Given the description of an element on the screen output the (x, y) to click on. 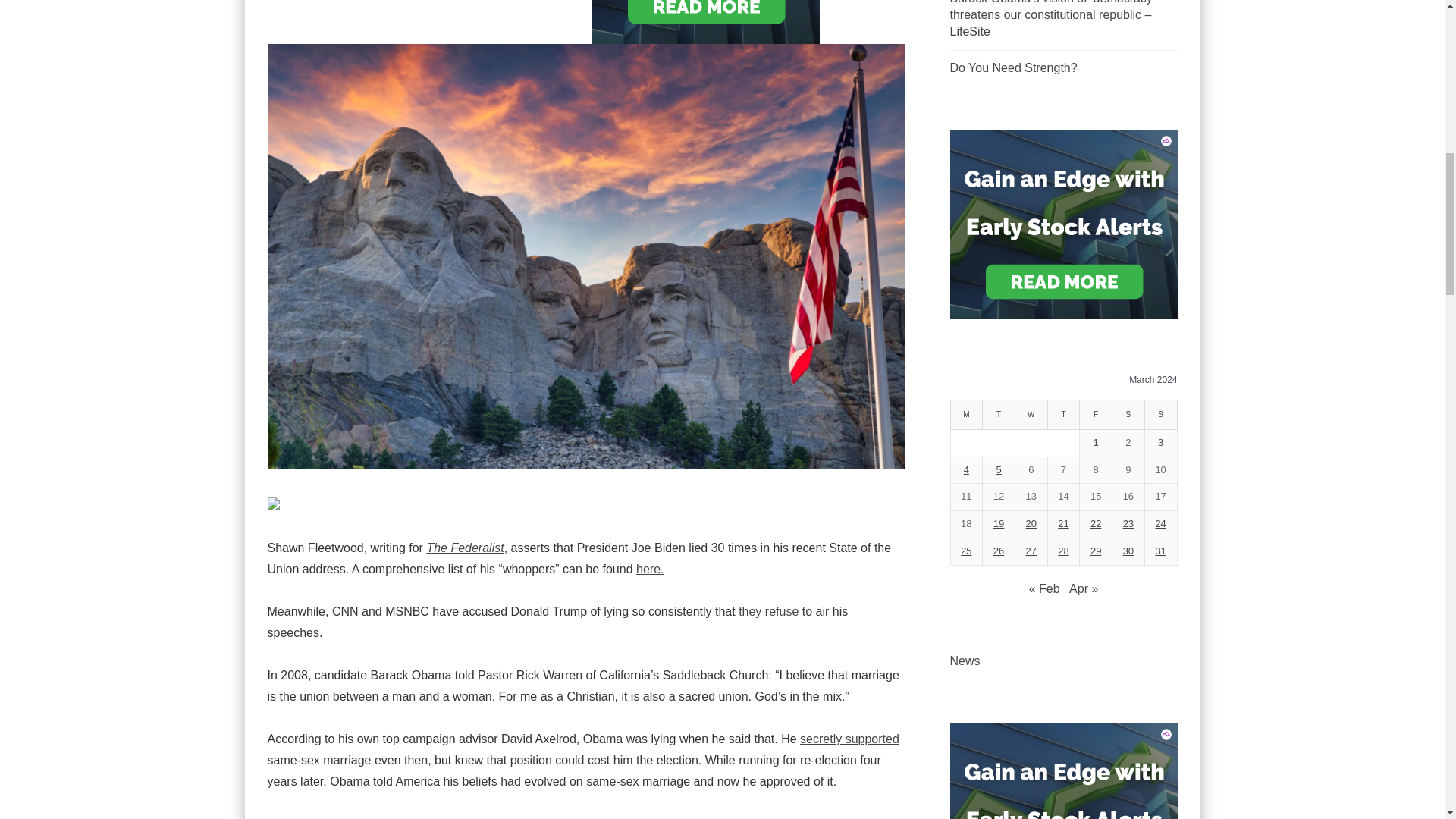
Saturday (1128, 414)
The Federalist (464, 547)
secretly supported (849, 738)
Monday (966, 414)
they refuse (767, 611)
Ads by InteractiveOffers (1062, 814)
Sunday (1160, 414)
Tuesday (998, 414)
Thursday (1063, 414)
Ads by InteractiveOffers (1062, 223)
Wednesday (1030, 414)
here. (649, 568)
Friday (1096, 414)
